Given the description of an element on the screen output the (x, y) to click on. 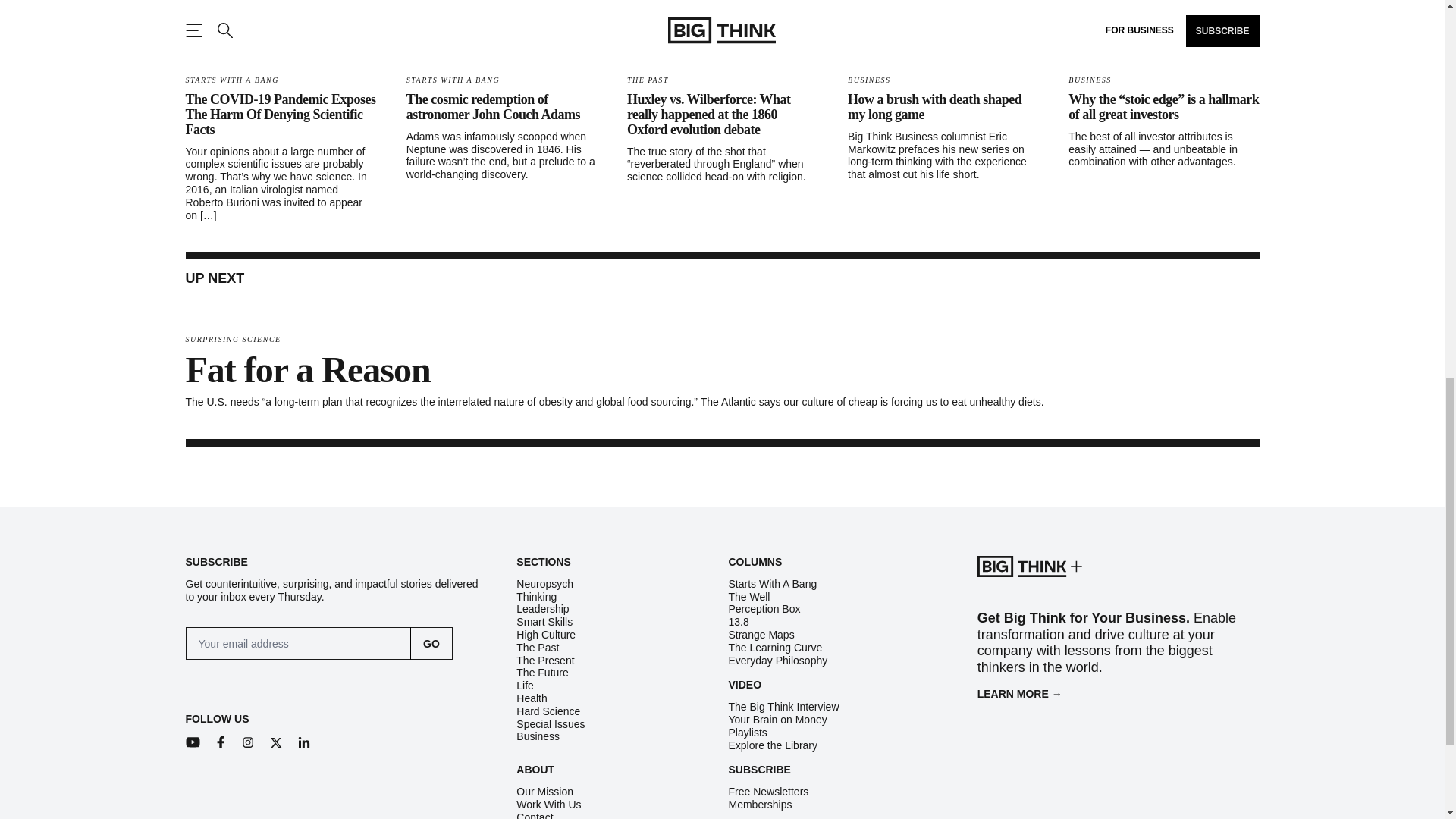
Go (431, 643)
